Given the description of an element on the screen output the (x, y) to click on. 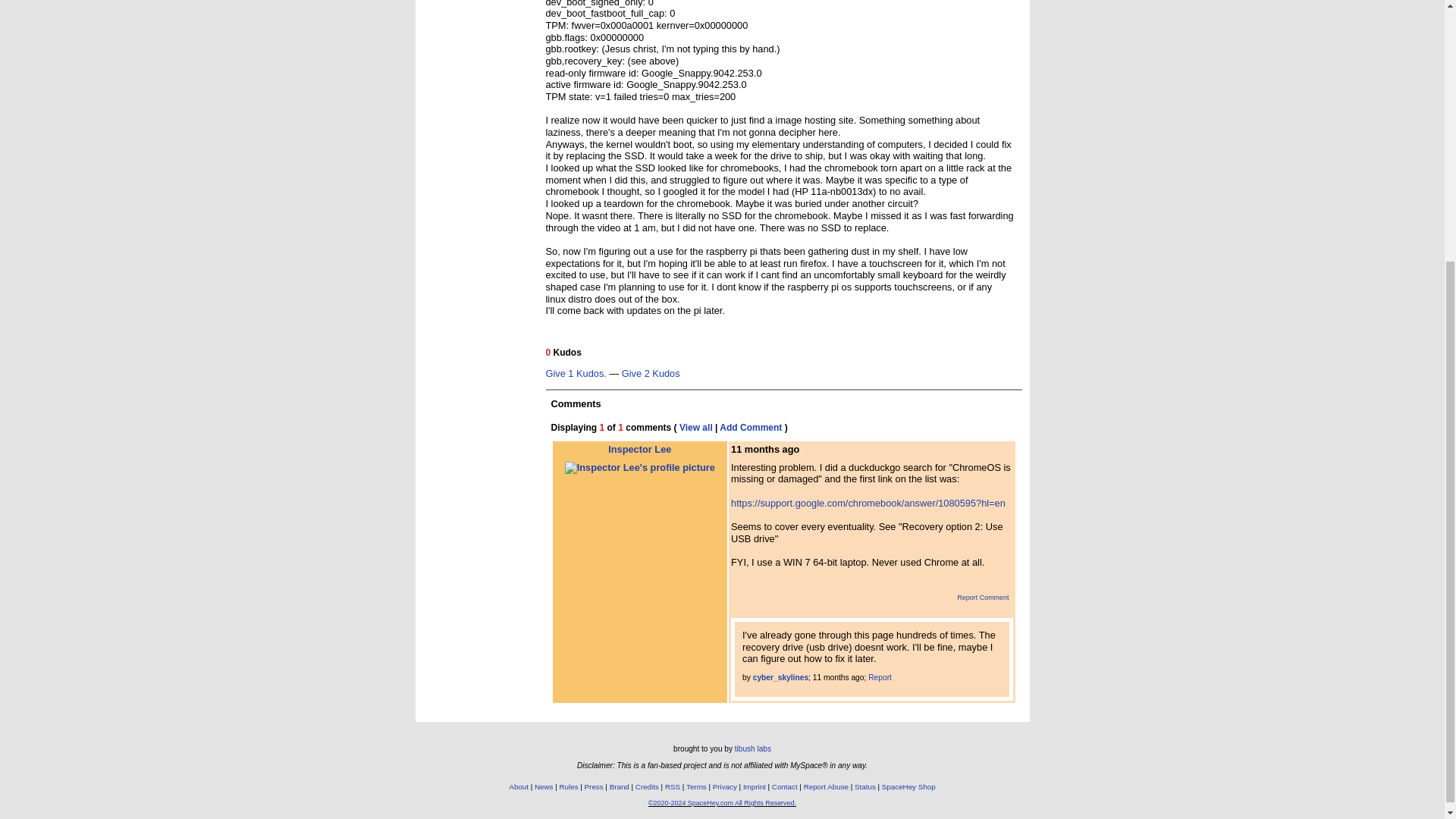
Report (879, 677)
Give 1 Kudos. (576, 374)
View all (696, 427)
tibush labs (753, 748)
About (518, 786)
News (543, 786)
Brand (619, 786)
Press (594, 786)
Rules (568, 786)
Give 2 Kudos (650, 374)
Inspector Lee (639, 458)
Add Comment (750, 427)
Report Comment (976, 597)
